Given the description of an element on the screen output the (x, y) to click on. 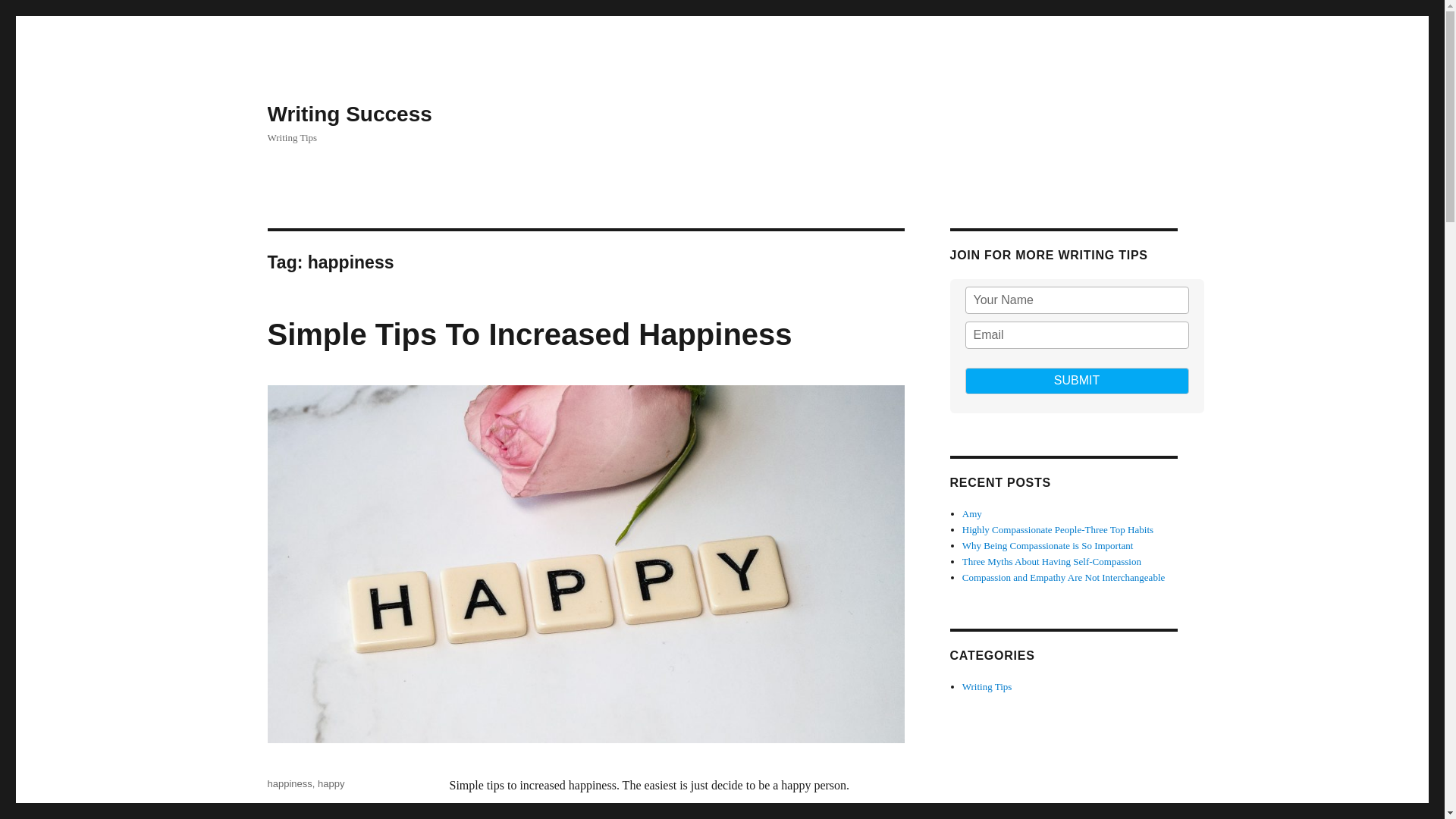
Why Being Compassionate is So Important (1048, 545)
happiness (288, 783)
happy (330, 783)
SUBMIT (1075, 380)
Highly Compassionate People-Three Top Habits (1057, 529)
Simple Tips To Increased Happiness (529, 334)
Three Myths About Having Self-Compassion (1051, 561)
Compassion and Empathy Are Not Interchangeable (1064, 577)
Writing Tips (986, 686)
Amy (971, 513)
